Given the description of an element on the screen output the (x, y) to click on. 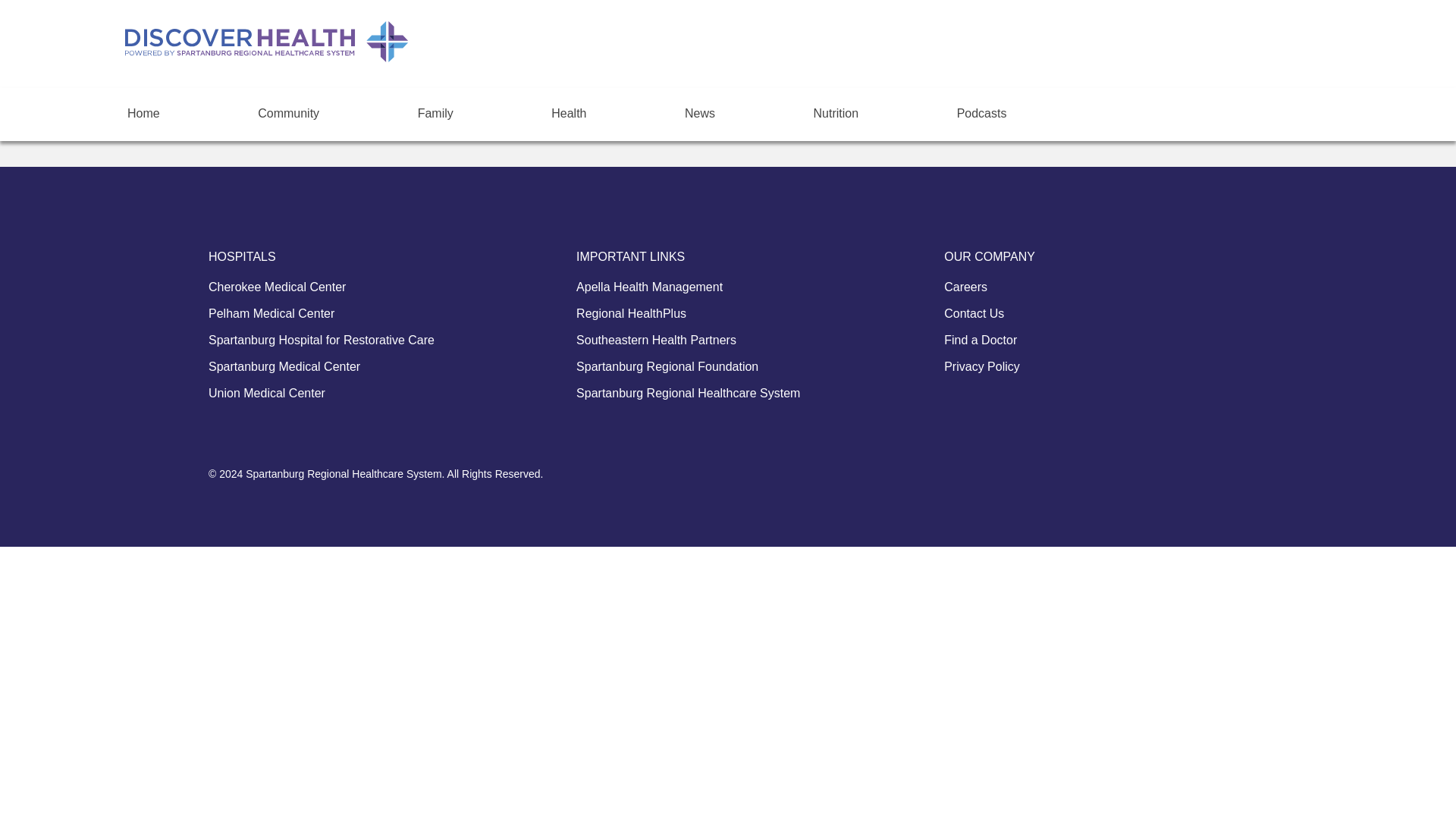
Community (287, 109)
Careers (965, 287)
Contact Us (973, 314)
Spartanburg Regional Foundation (667, 367)
Spartanburg Hospital for Restorative Care (320, 340)
Southeastern Health Partners (656, 340)
Privacy Policy (981, 367)
News (699, 109)
Union Medical Center (266, 393)
Podcasts (981, 109)
